Given the description of an element on the screen output the (x, y) to click on. 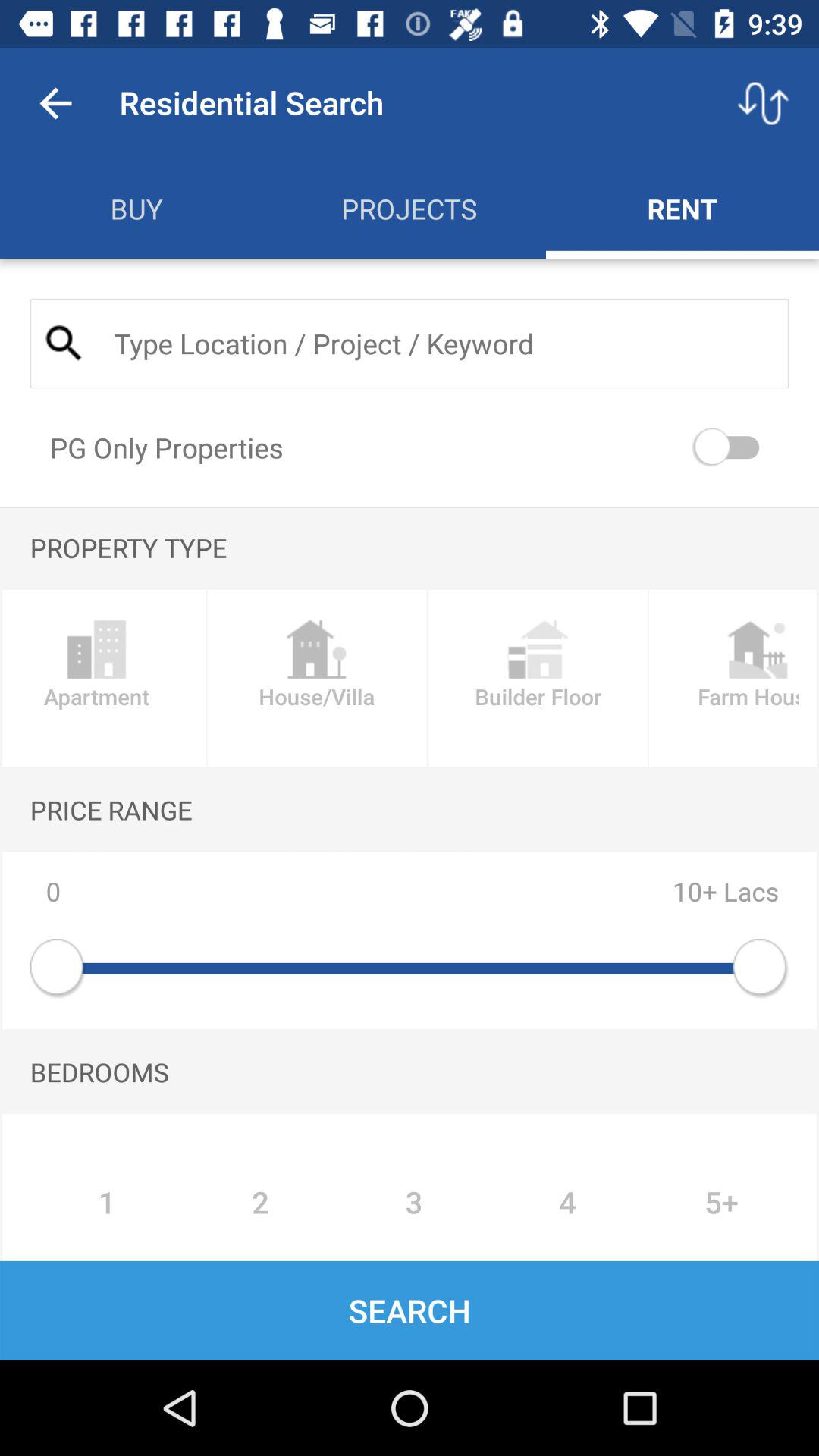
turn on pg only properties (729, 447)
